Given the description of an element on the screen output the (x, y) to click on. 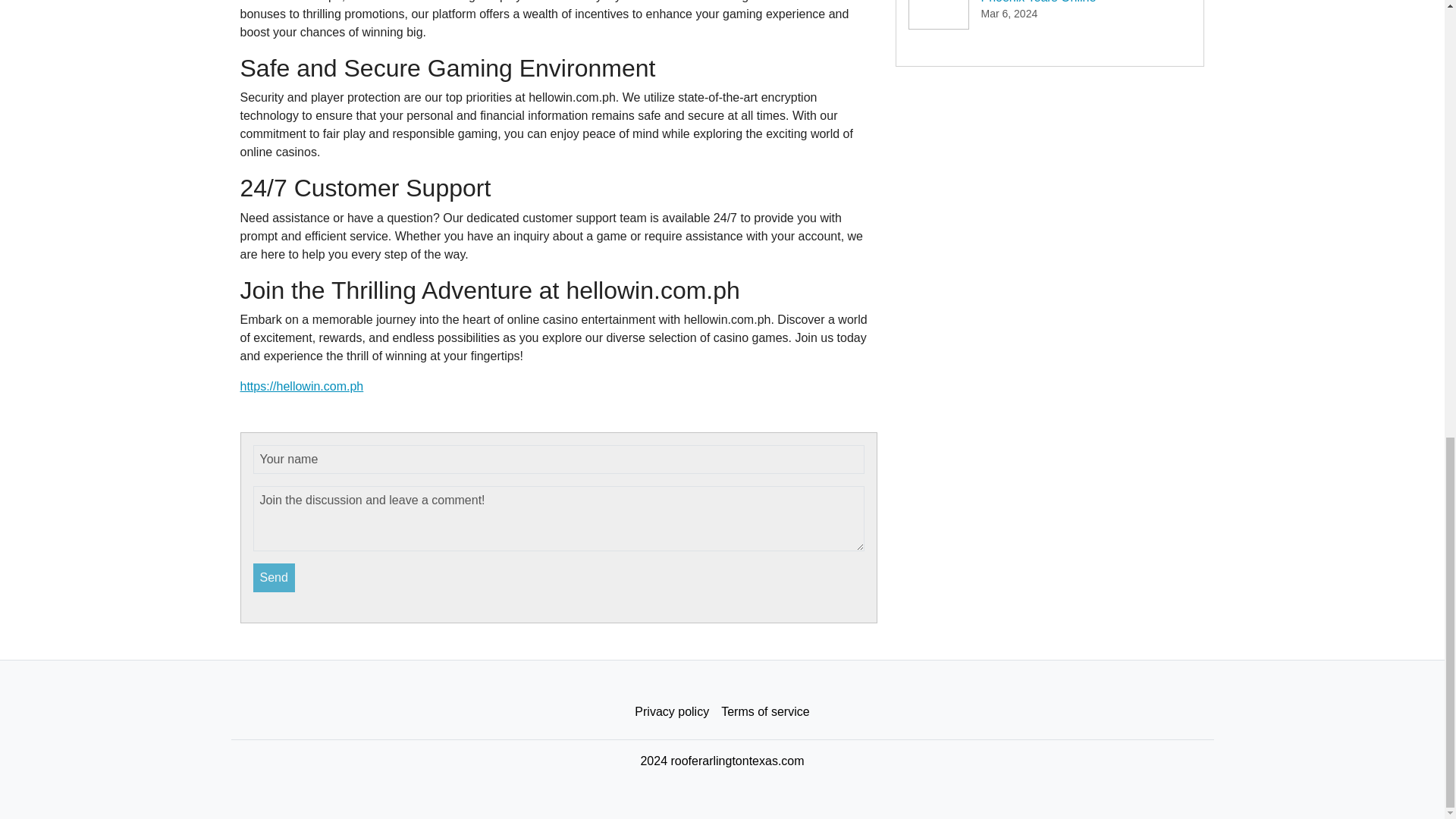
Privacy policy (671, 711)
Send (274, 577)
Terms of service (764, 711)
Send (274, 577)
